Given the description of an element on the screen output the (x, y) to click on. 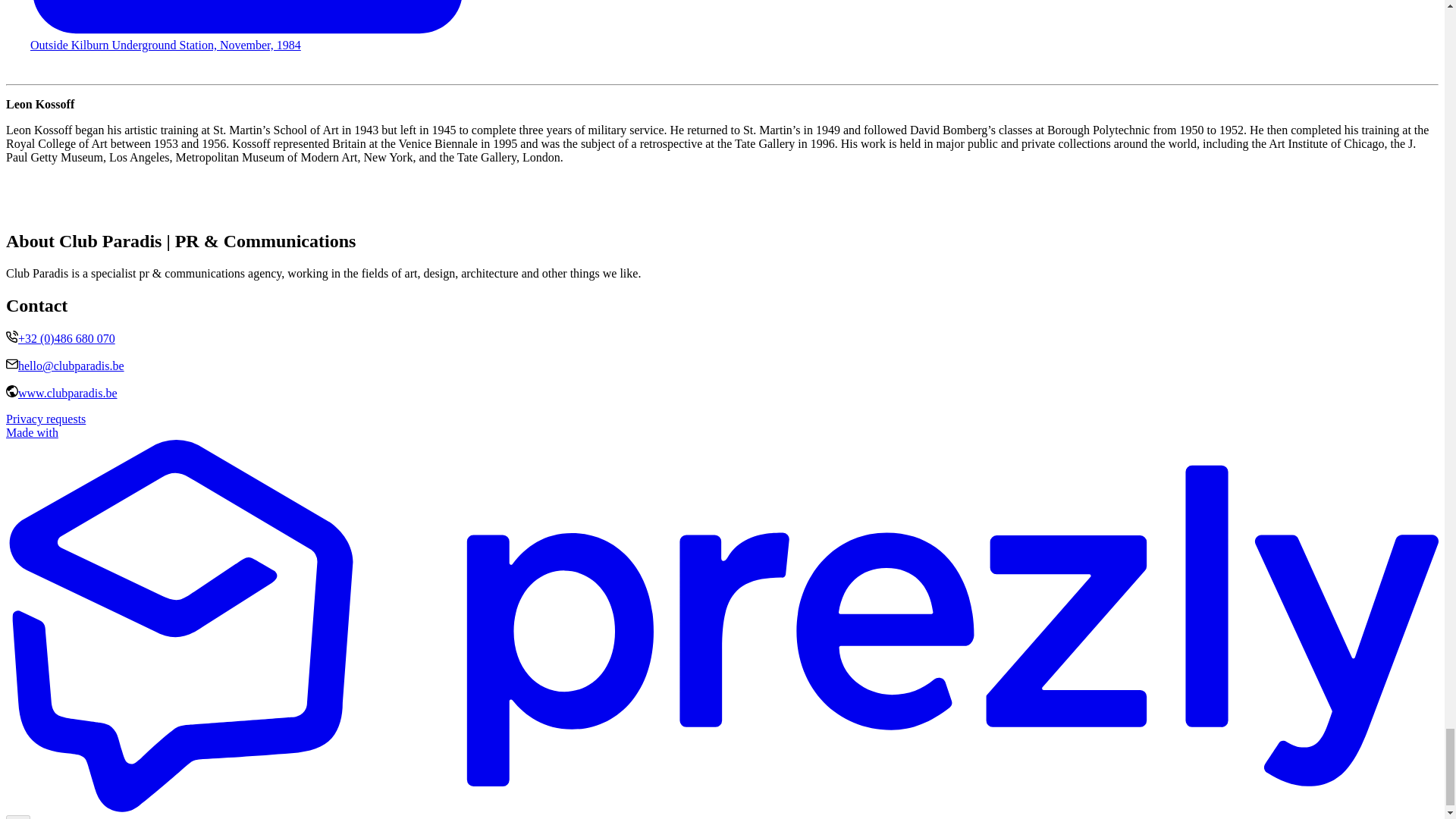
Outside Kilburn Underground Station, November, 1984 (165, 44)
Outside Kilburn Underground Station, November, 1984 (721, 25)
Privacy requests (45, 418)
www.clubparadis.be (66, 392)
